Given the description of an element on the screen output the (x, y) to click on. 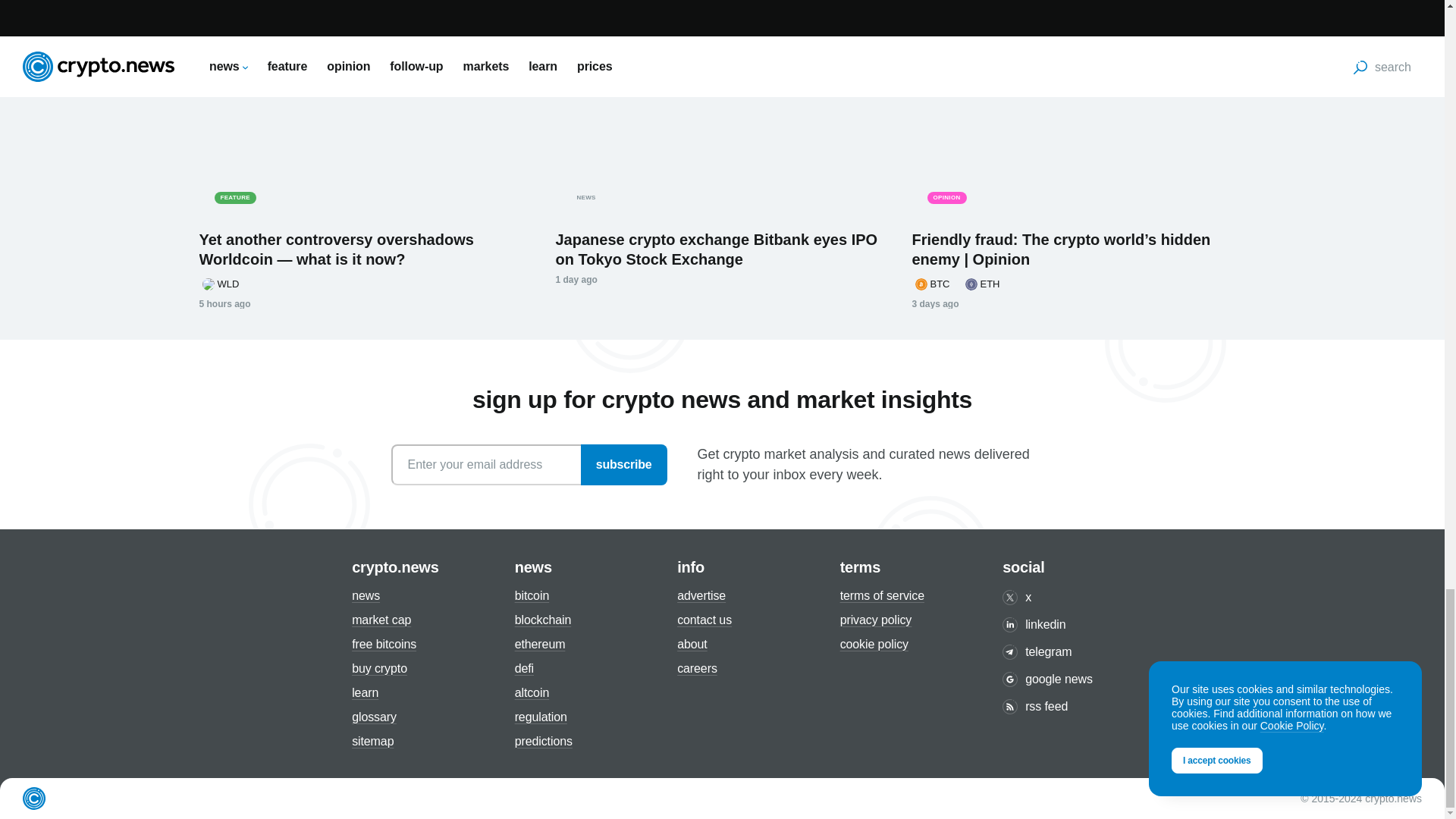
August 1, 2024 at 1:27 pm (224, 303)
July 29, 2024 at 1:13 pm (934, 303)
July 31, 2024 at 12:14 pm (575, 279)
